Given the description of an element on the screen output the (x, y) to click on. 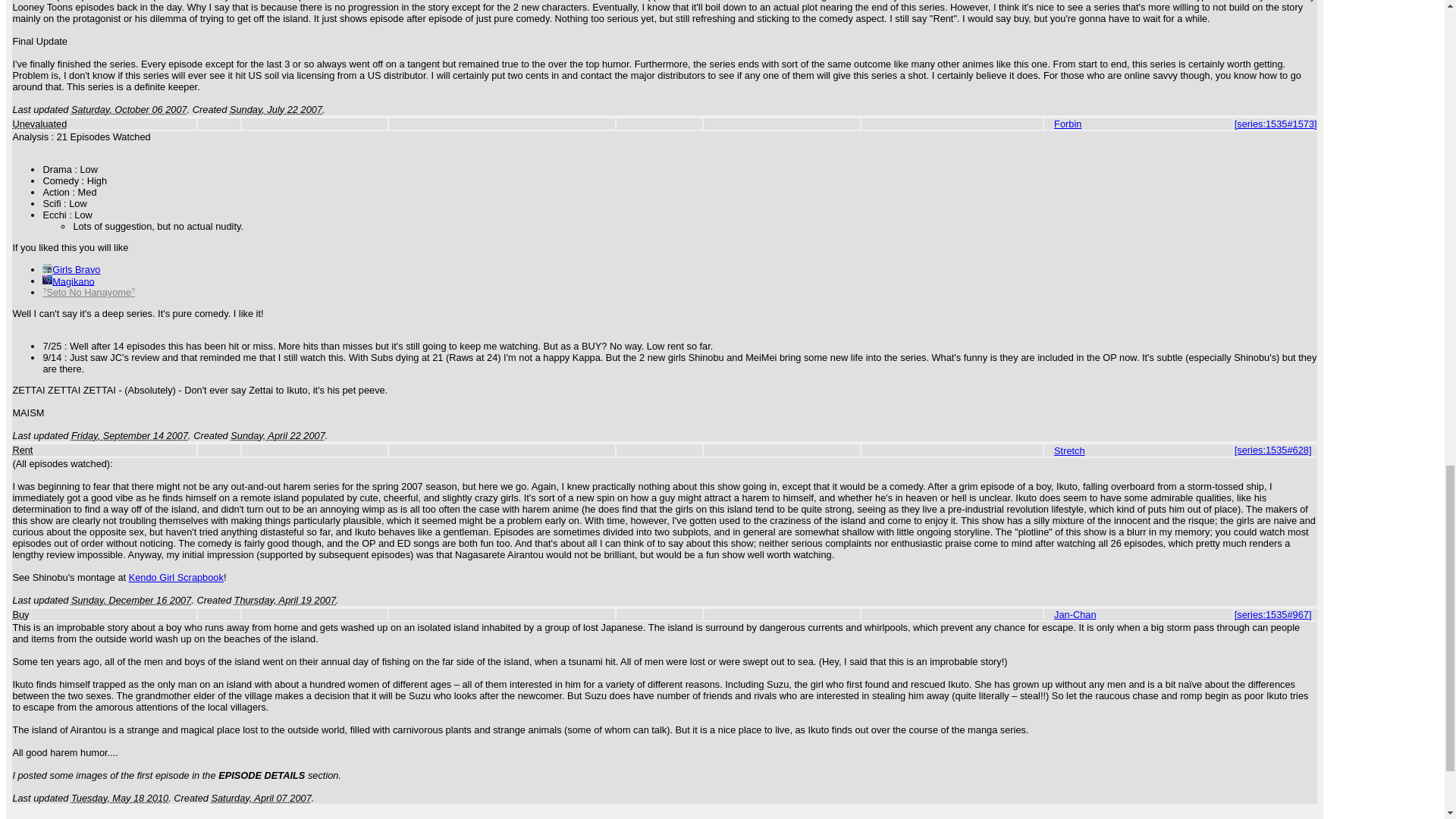
20070914T1349-0400 (129, 435)
4 (20, 614)
20070422T0218-0400 (277, 435)
20070419T1352-0400 (285, 600)
20070722T1828-0400 (275, 109)
20071006T2335-0400 (129, 109)
-1 (38, 123)
3 (21, 449)
20071216T1101-0500 (130, 600)
